Given the description of an element on the screen output the (x, y) to click on. 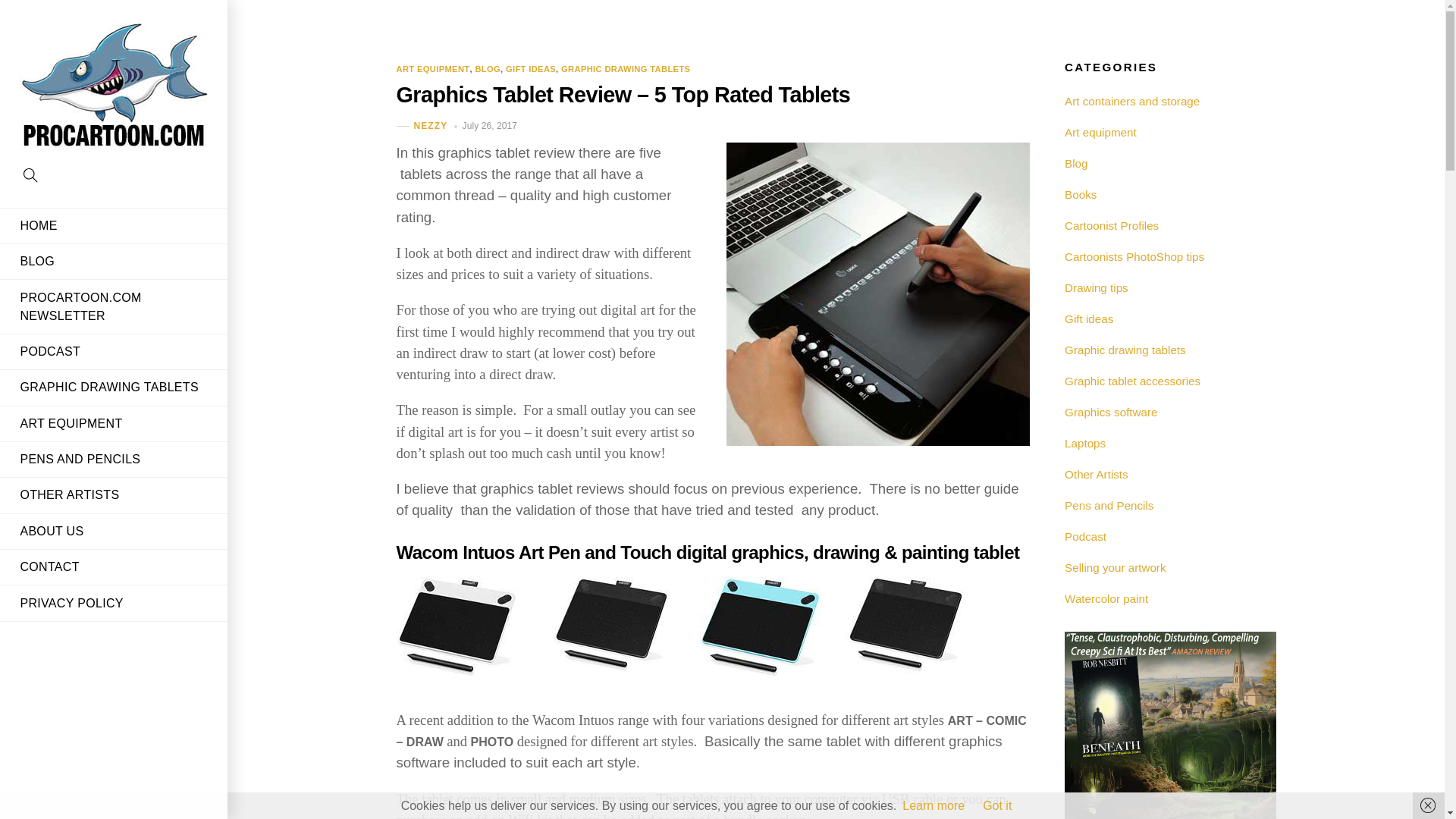
OTHER ARTISTS (113, 494)
Art containers and storage (1131, 101)
NEZZY (430, 125)
PROCARTOON.COM NEWSLETTER (113, 305)
GRAPHIC DRAWING TABLETS (625, 68)
ART EQUIPMENT (432, 68)
PRIVACY POLICY (113, 601)
ABOUT US (113, 530)
BLOG (113, 261)
Procartoon-logo-250-x-175 (113, 88)
